Given the description of an element on the screen output the (x, y) to click on. 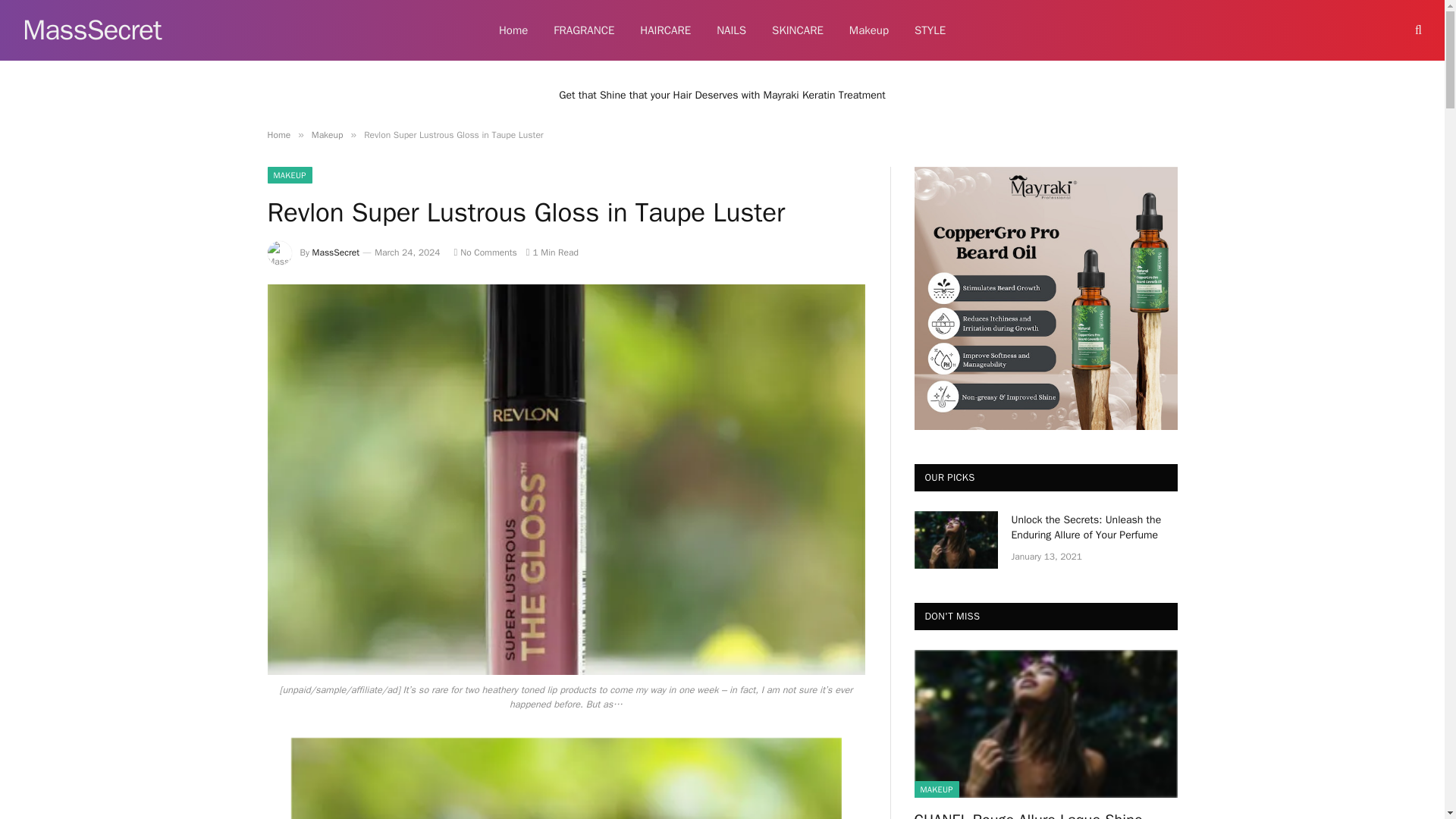
Makeup (868, 30)
MAKEUP (288, 175)
MassSecret (92, 30)
STYLE (929, 30)
MassSecret (336, 252)
Posts by MassSecret (336, 252)
HAIRCARE (665, 30)
MassSecret (92, 30)
Home (513, 30)
SKINCARE (796, 30)
FRAGRANCE (583, 30)
NAILS (730, 30)
No Comments (484, 252)
